Given the description of an element on the screen output the (x, y) to click on. 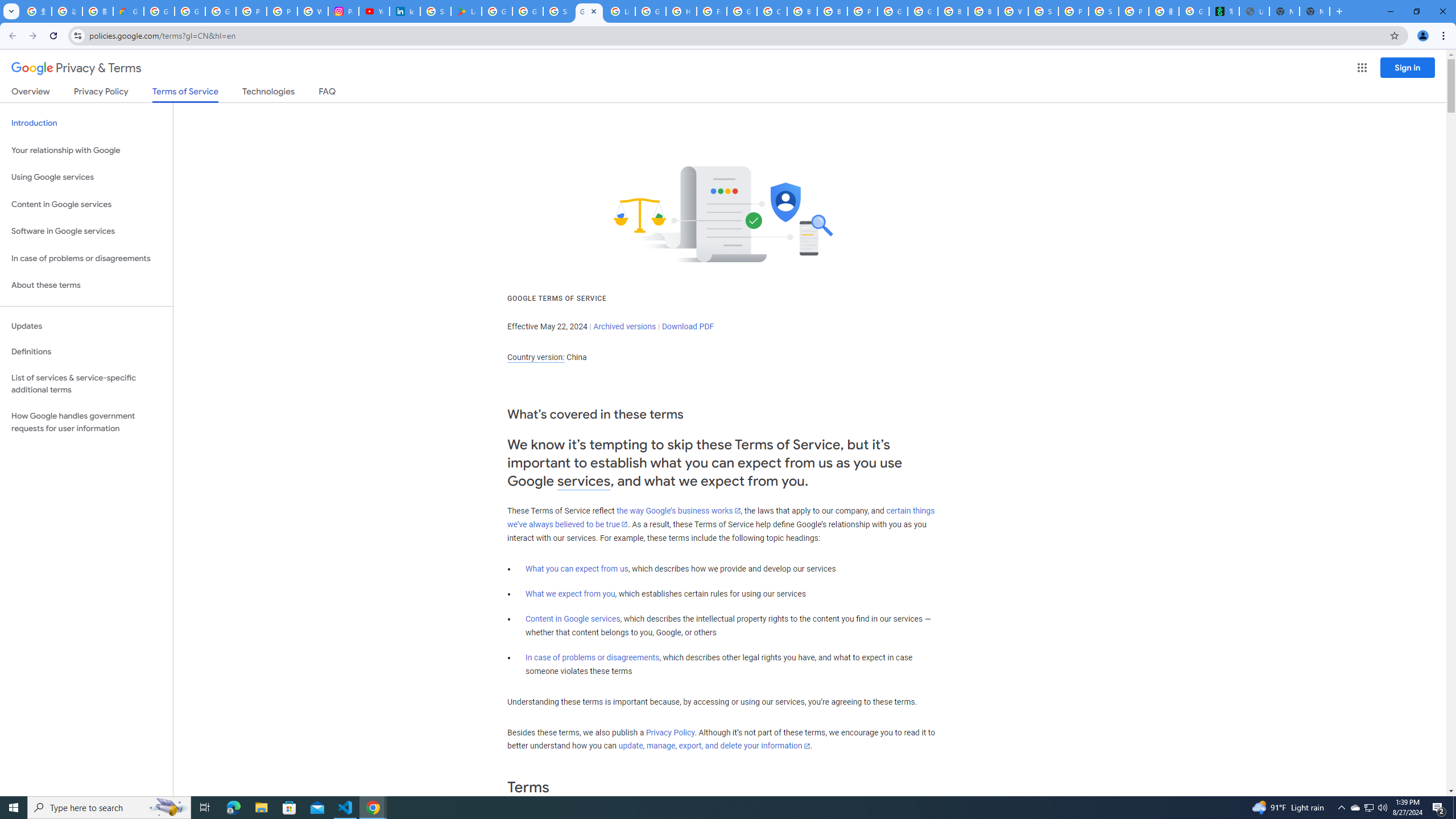
Browse Chrome as a guest - Computer - Google Chrome Help (801, 11)
Sign in - Google Accounts (434, 11)
services (583, 480)
